Given the description of an element on the screen output the (x, y) to click on. 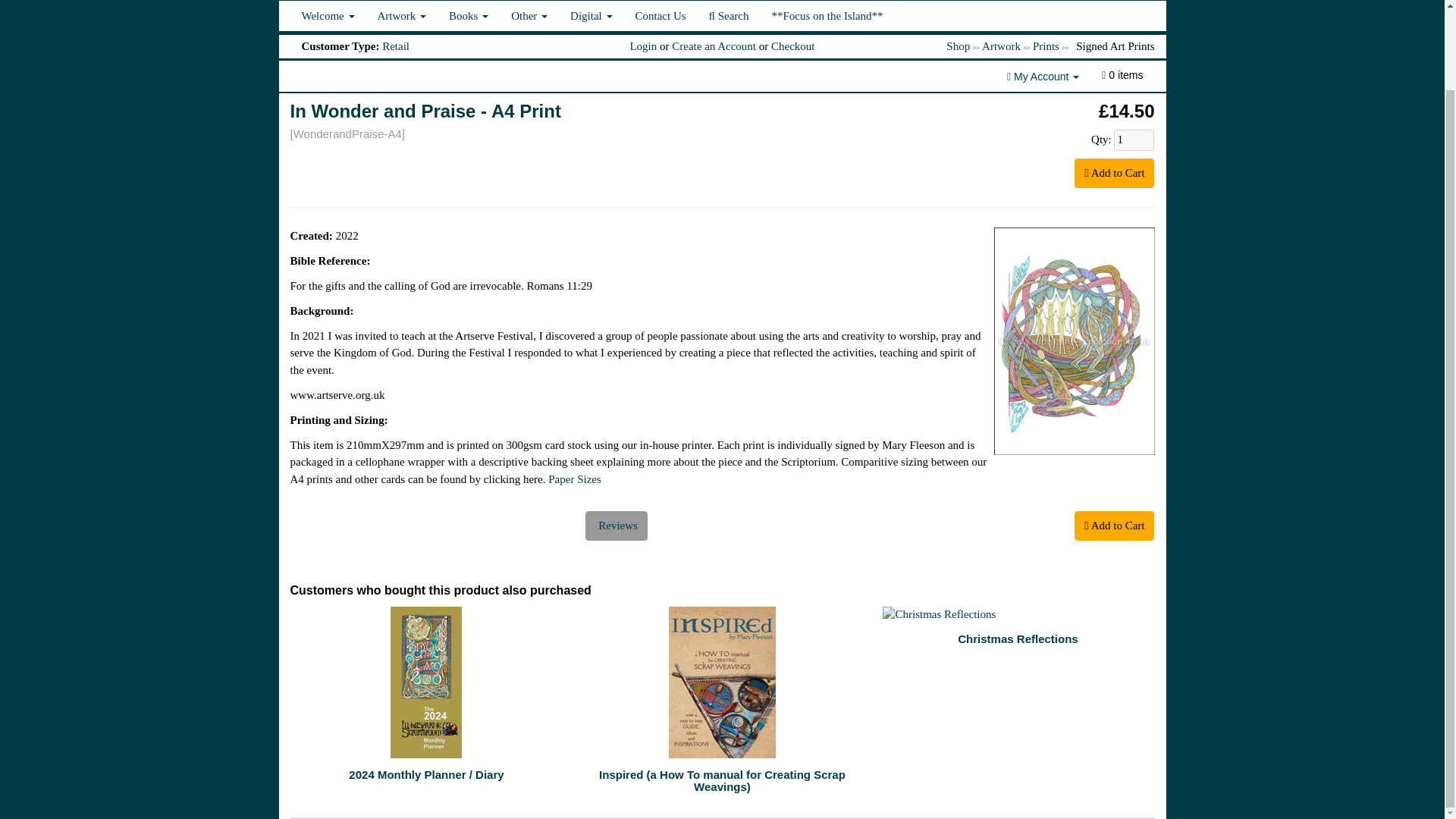
Books (468, 15)
Christmas Reflections (1017, 614)
Artwork (402, 15)
1 (1133, 139)
Welcome (327, 15)
